Given the description of an element on the screen output the (x, y) to click on. 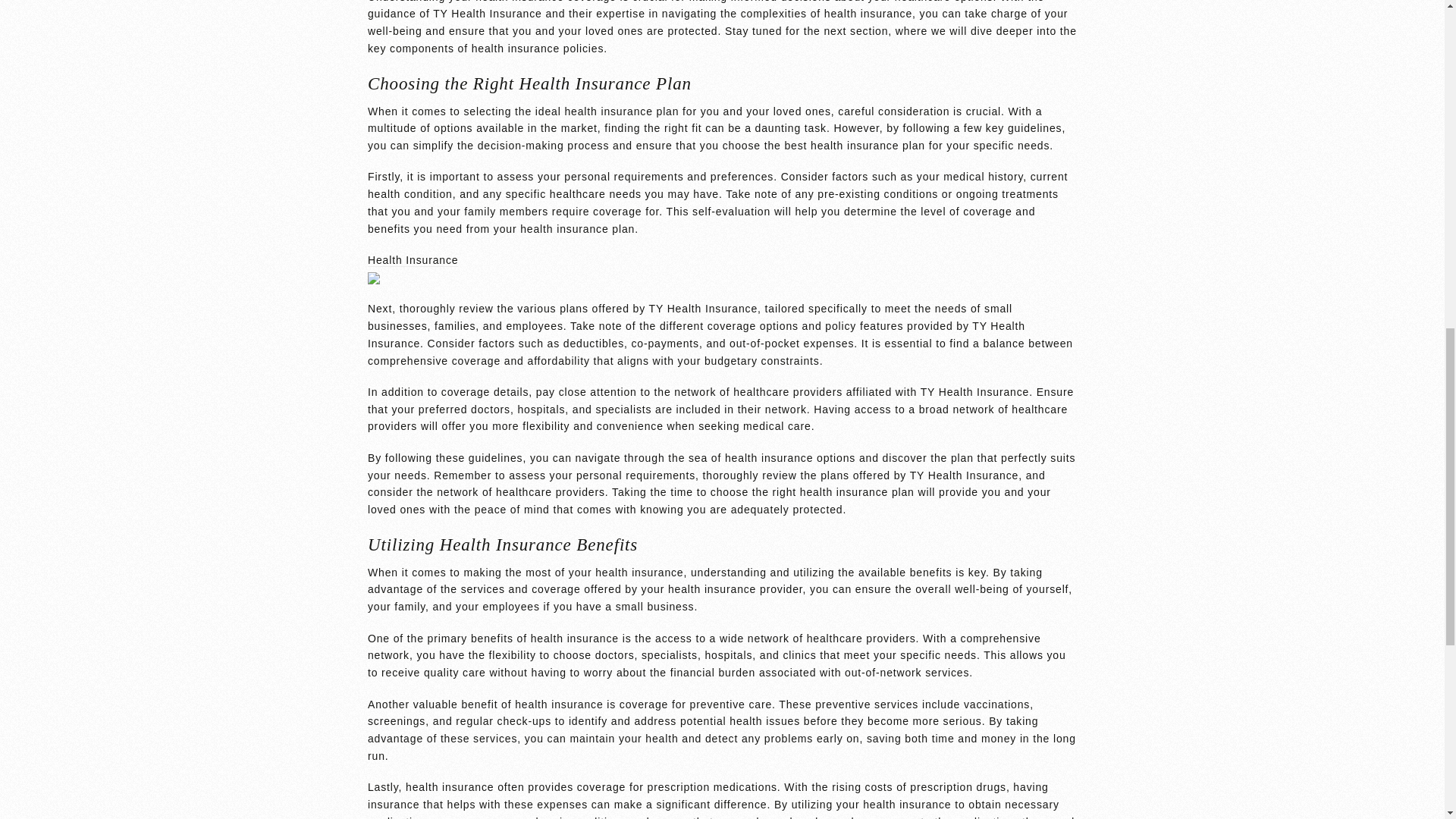
Health Insurance (413, 259)
